Given the description of an element on the screen output the (x, y) to click on. 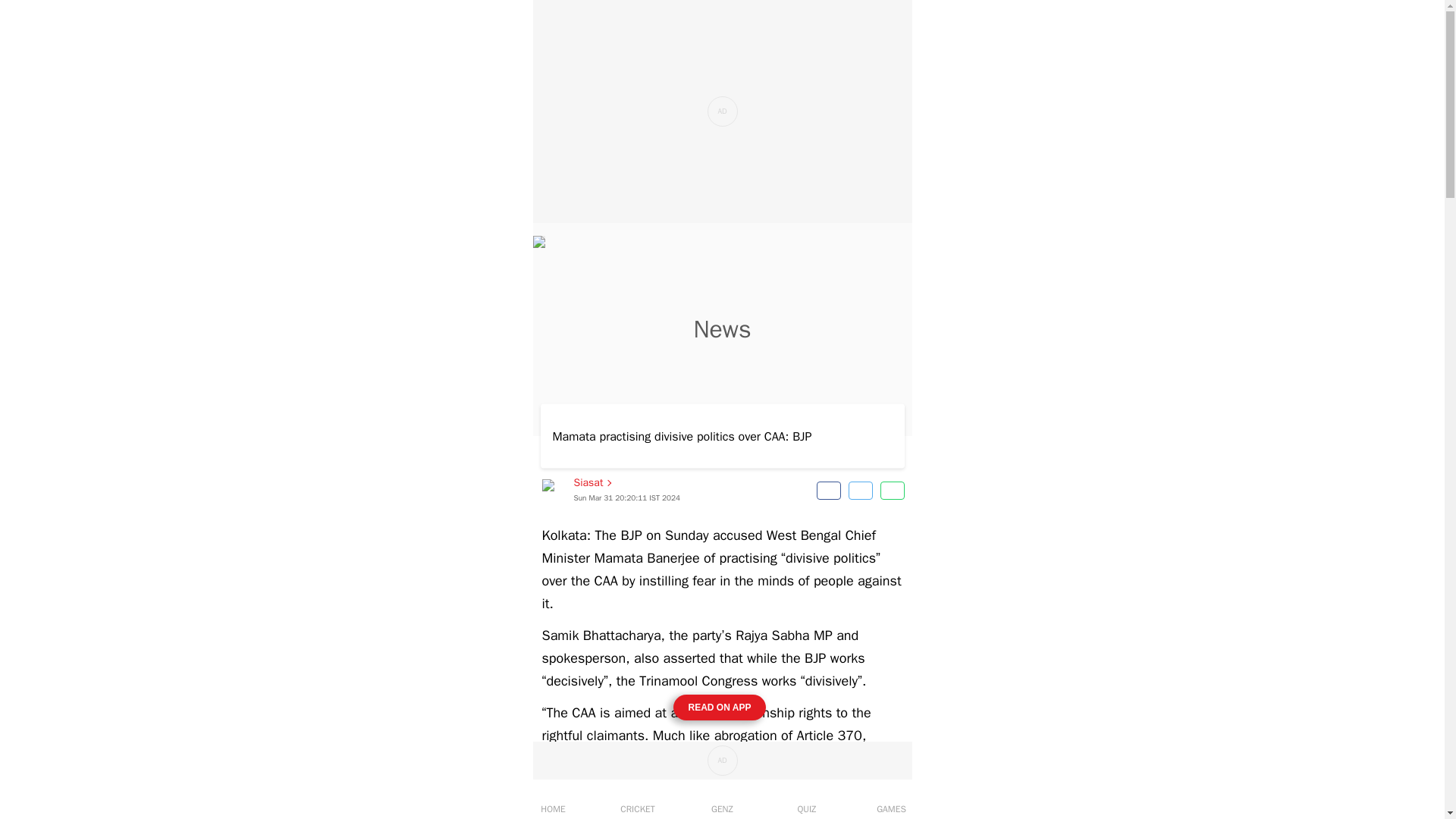
READ ON APP (719, 707)
twitter (859, 490)
whatsapp (891, 490)
facebook (610, 490)
